Given the description of an element on the screen output the (x, y) to click on. 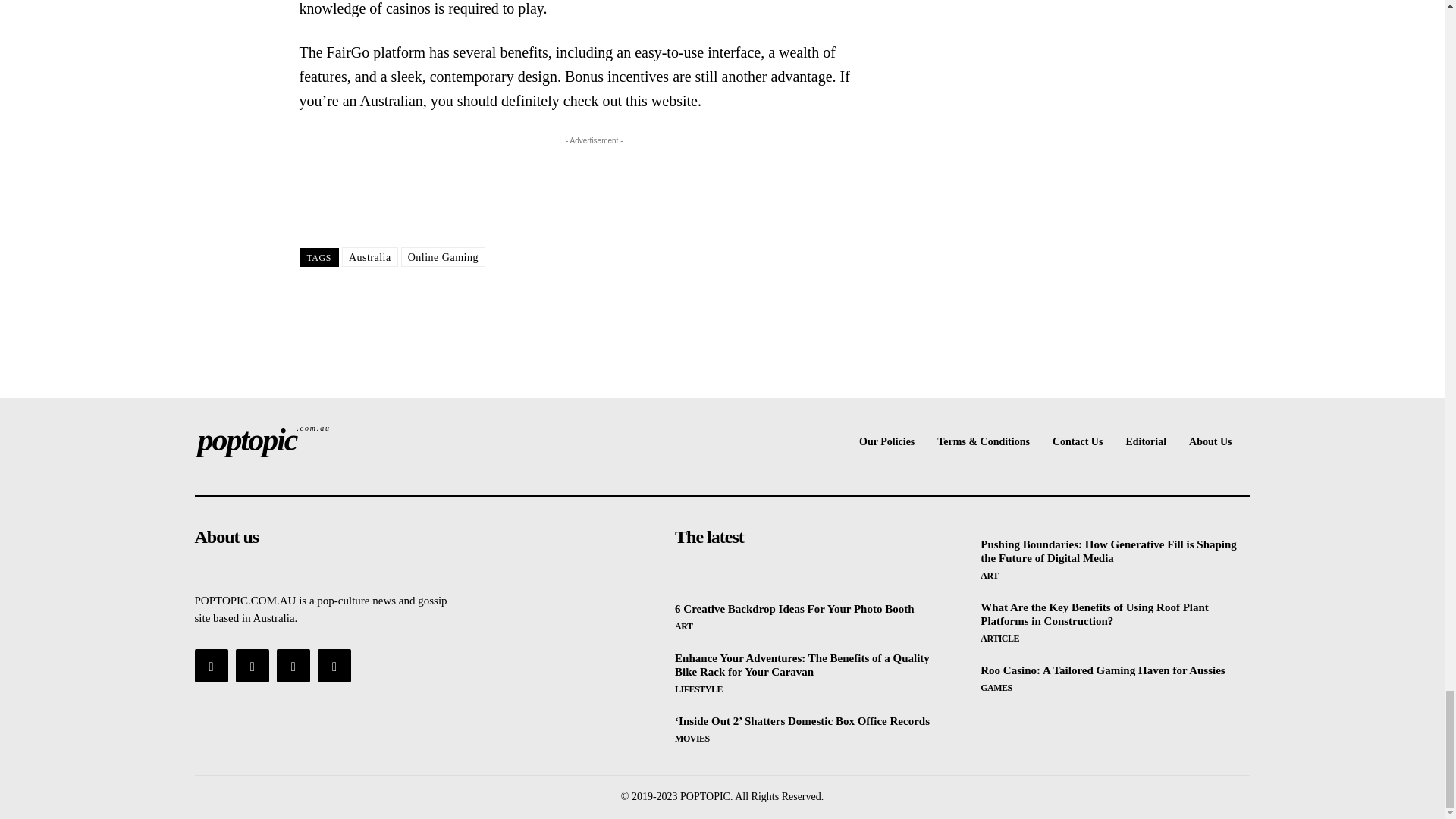
Online Gaming (442, 256)
About Us (1210, 441)
Australia (369, 256)
Editorial (1145, 441)
Facebook (210, 665)
Instagram (252, 665)
Our Policies (886, 441)
Contact Us (317, 439)
6 Creative Backdrop Ideas For Your Photo Booth (1077, 441)
Youtube (794, 608)
Twitter (333, 665)
POPTOPIC (293, 665)
6 Creative Backdrop Ideas For Your Photo Booth (317, 439)
